Given the description of an element on the screen output the (x, y) to click on. 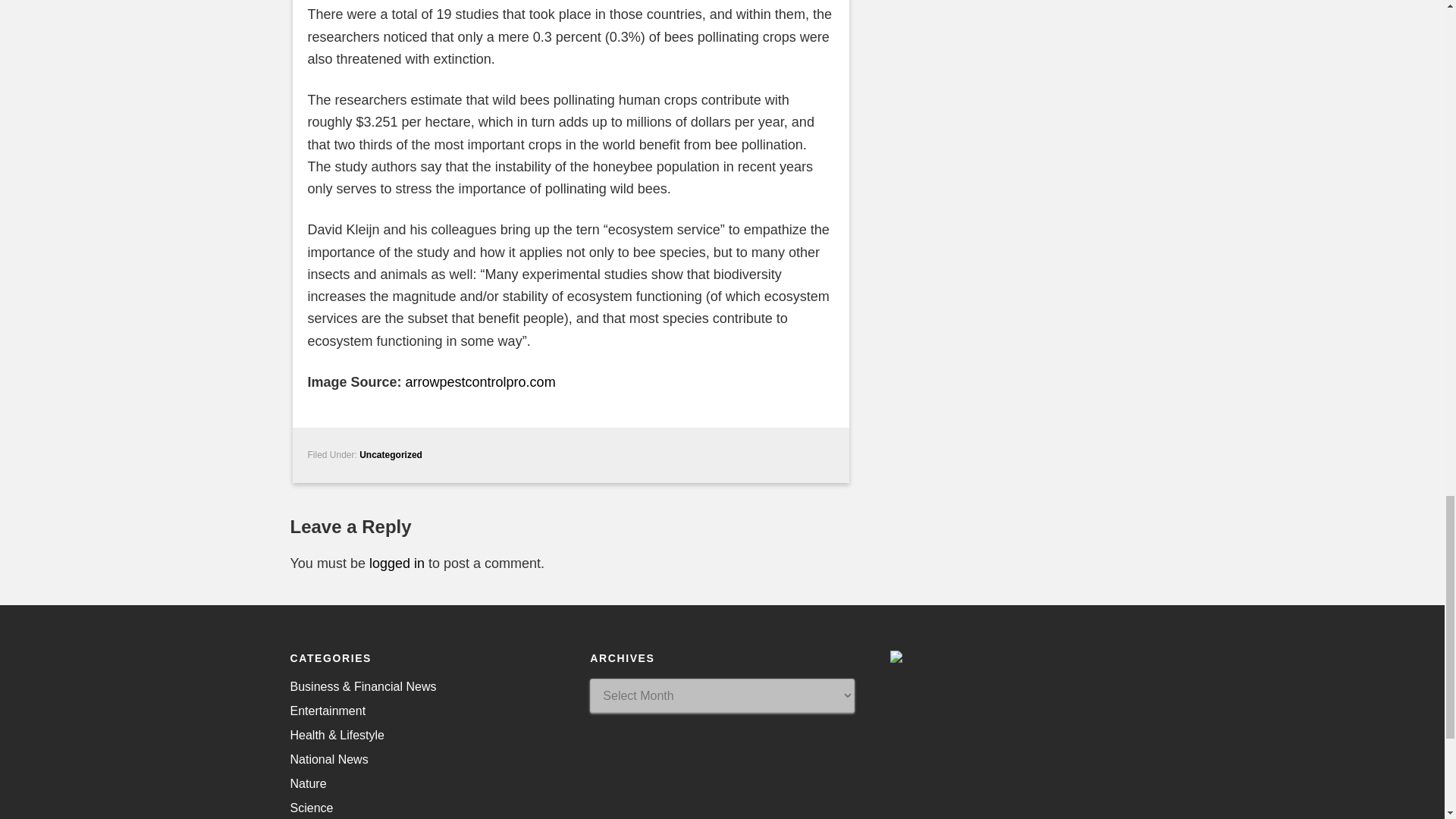
Uncategorized (390, 454)
logged in (397, 563)
arrowpestcontrolpro.com (481, 381)
